Given the description of an element on the screen output the (x, y) to click on. 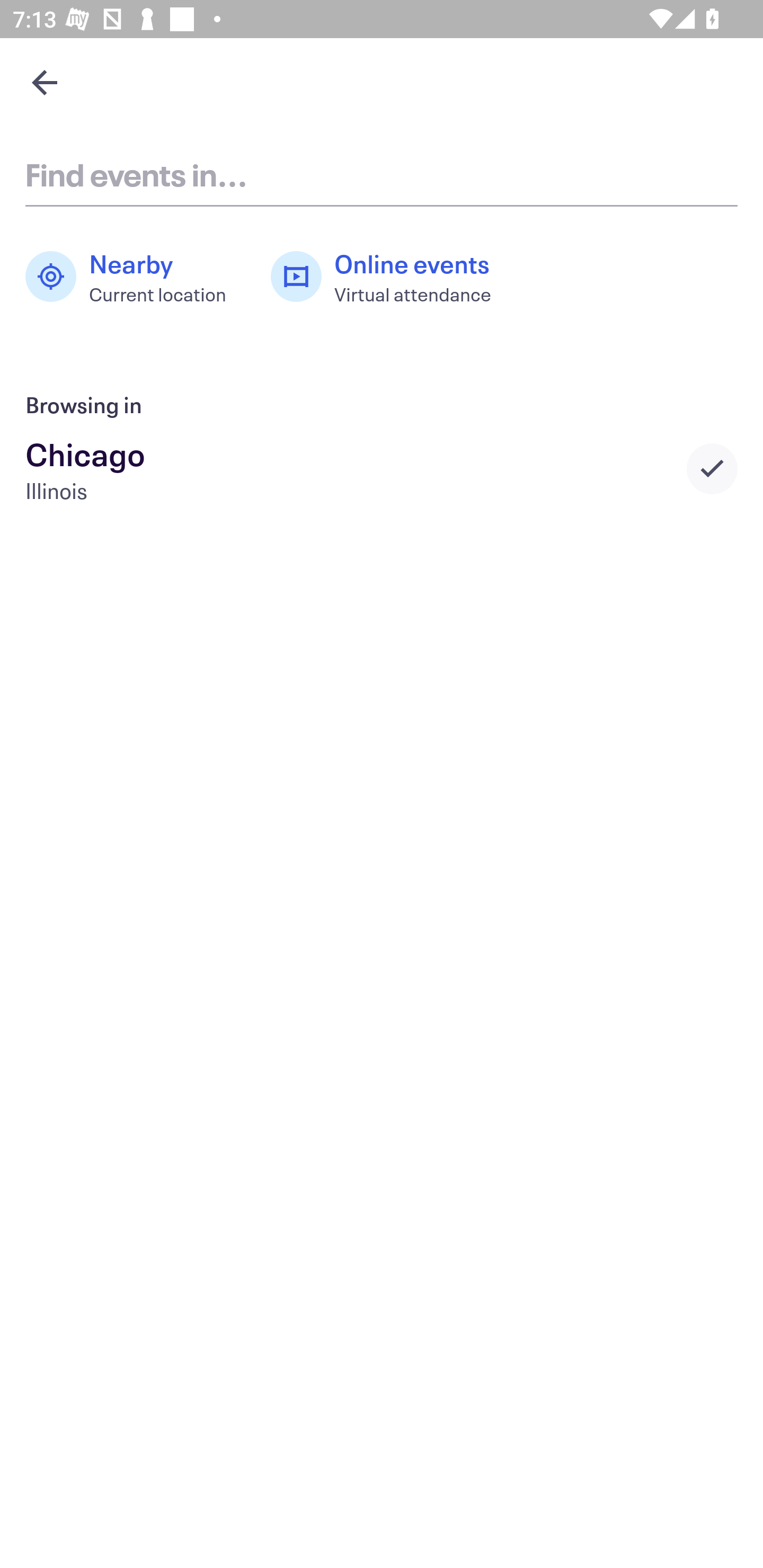
Navigate up (44, 82)
Find events in... (381, 173)
Nearby Current location (135, 276)
Online events Virtual attendance (390, 276)
Chicago Illinois Selected city (381, 468)
